Given the description of an element on the screen output the (x, y) to click on. 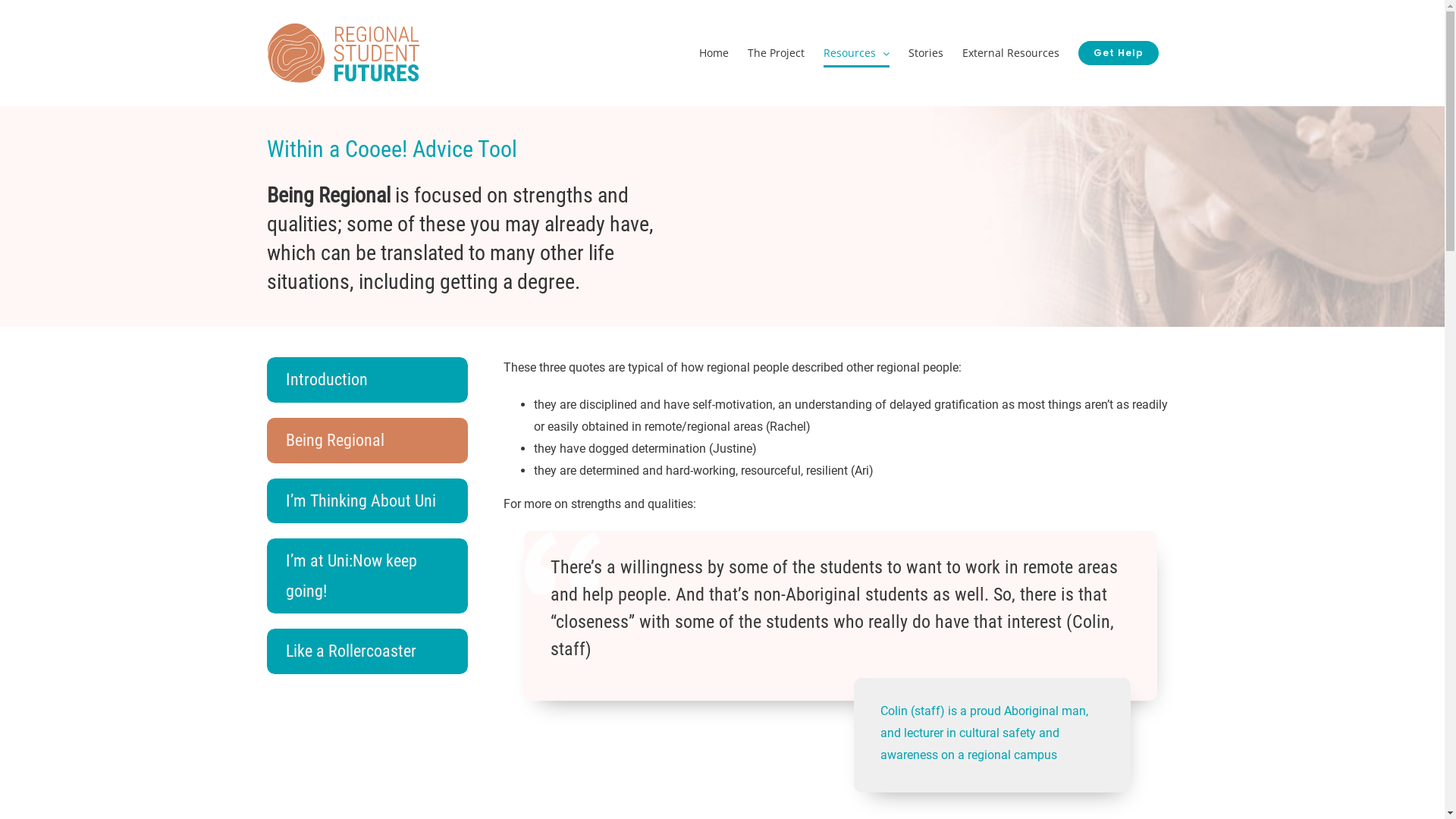
Home Element type: text (713, 53)
Stories Element type: text (925, 53)
The Project Element type: text (775, 53)
Resources Element type: text (856, 53)
Get Help Element type: text (1118, 53)
External Resources Element type: text (1009, 53)
